Given the description of an element on the screen output the (x, y) to click on. 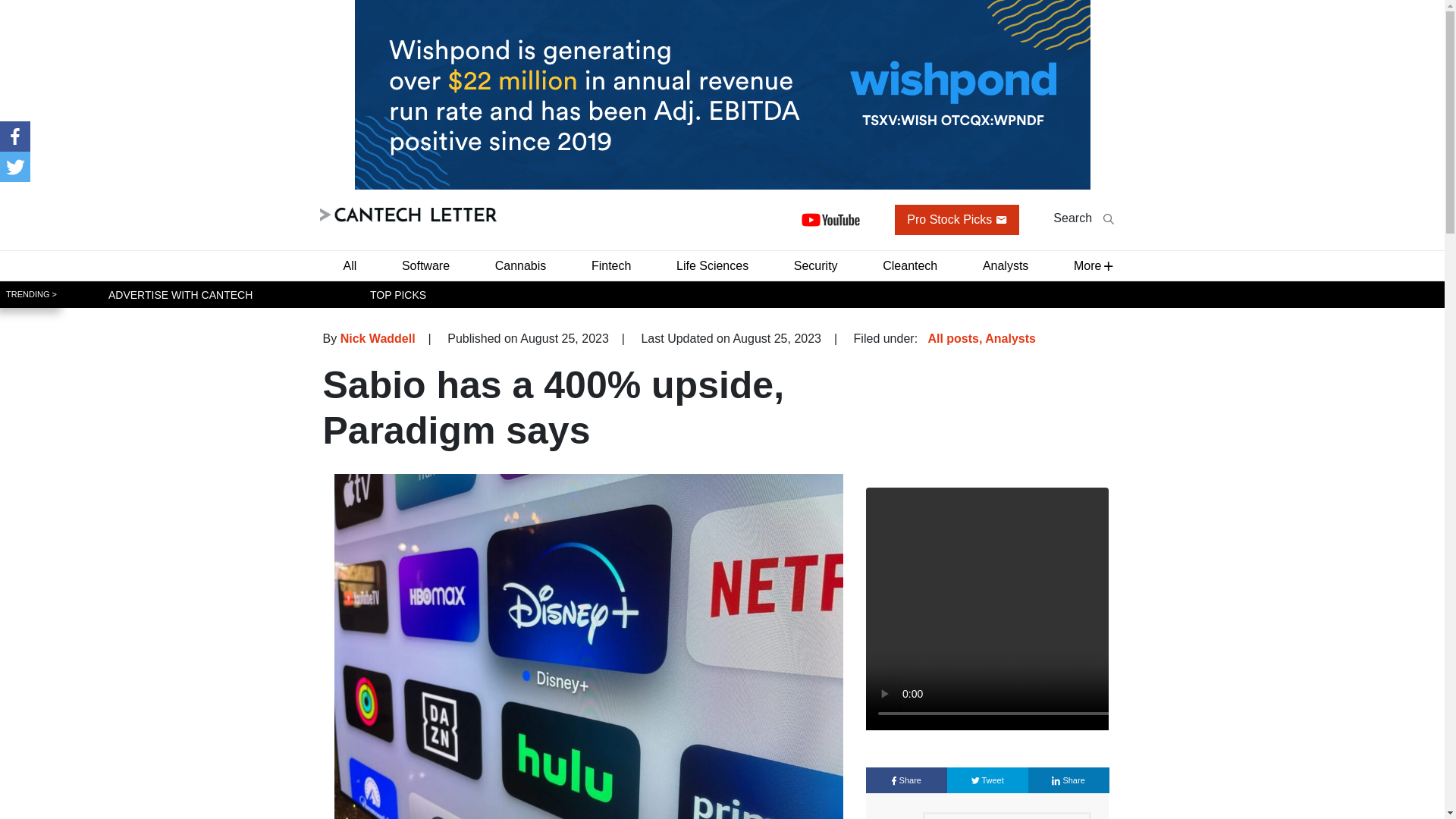
All posts (952, 338)
Facebook (15, 136)
Twitter (15, 166)
Search (1083, 217)
Analysts (1006, 265)
Nick Waddell (377, 338)
Life Sciences (711, 265)
ADVERTISE WITH CANTECH (180, 294)
TOP PICKS (397, 294)
Cannabis (521, 265)
